Given the description of an element on the screen output the (x, y) to click on. 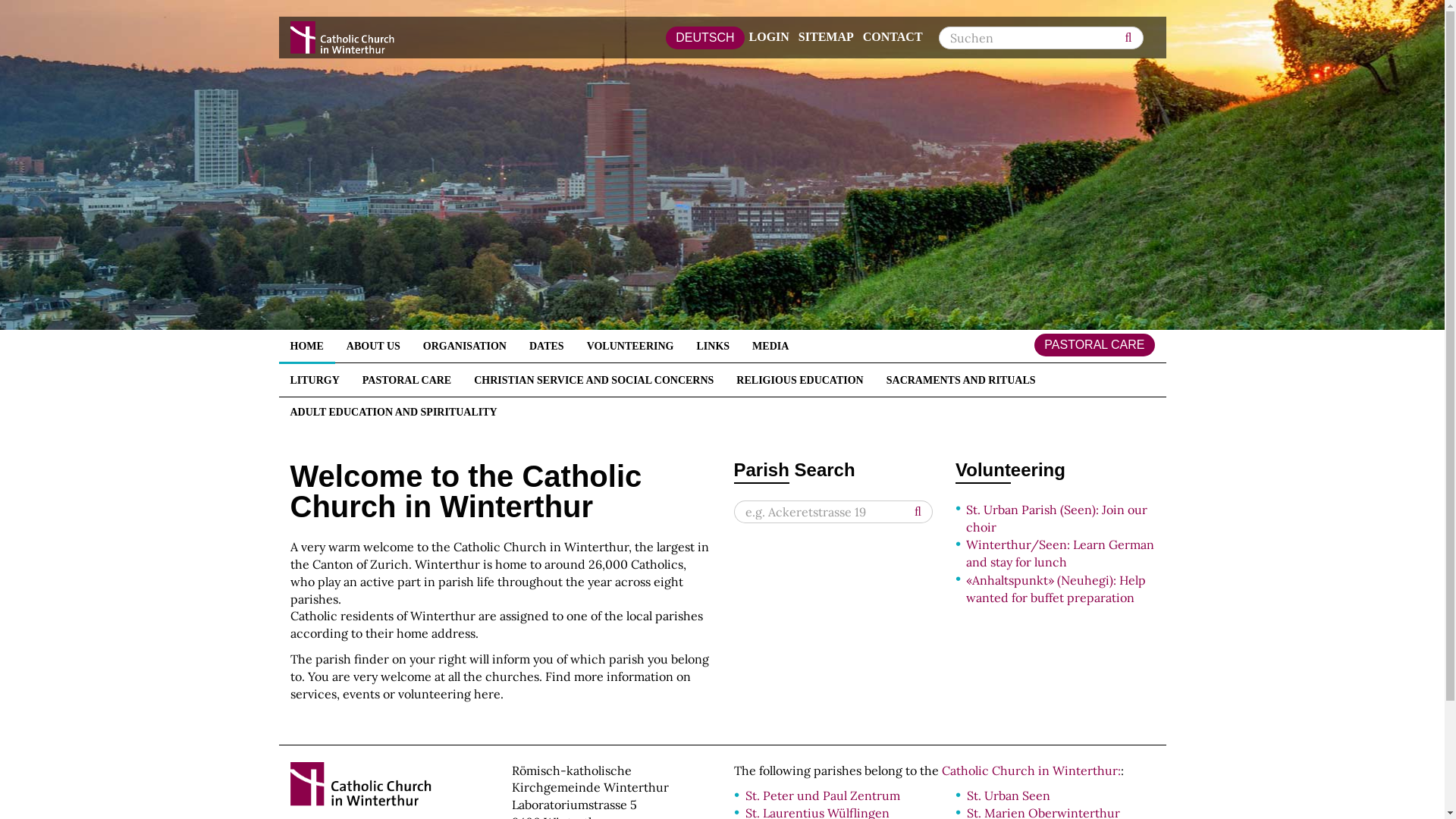
SITEMAP Element type: text (825, 36)
PASTORAL CARE Element type: text (406, 379)
CONTACT Element type: text (892, 36)
SACRAMENTS AND RITUALS Element type: text (961, 379)
ORGANISATION Element type: text (464, 345)
St. Peter und Paul Zentrum Element type: text (821, 795)
RELIGIOUS EDUCATION Element type: text (799, 379)
PASTORAL CARE Element type: text (1094, 344)
ADULT EDUCATION AND SPIRITUALITY Element type: text (393, 411)
ABOUT US Element type: text (373, 345)
LOGIN Element type: text (768, 36)
St. Urban Seen Element type: text (1008, 795)
MEDIA Element type: text (770, 345)
St. Urban Parish (Seen): Join our choir Element type: text (1056, 518)
Winterthur/Seen: Learn German and stay for lunch Element type: text (1060, 552)
DEUTSCH Element type: text (704, 36)
LITURGY Element type: text (315, 379)
VOLUNTEERING Element type: text (630, 345)
Catholic Church in Winterthur: Element type: text (1030, 770)
HOME Element type: text (307, 345)
CHRISTIAN SERVICE AND SOCIAL CONCERNS Element type: text (593, 379)
LINKS Element type: text (713, 345)
DATES Element type: text (546, 345)
